Given the description of an element on the screen output the (x, y) to click on. 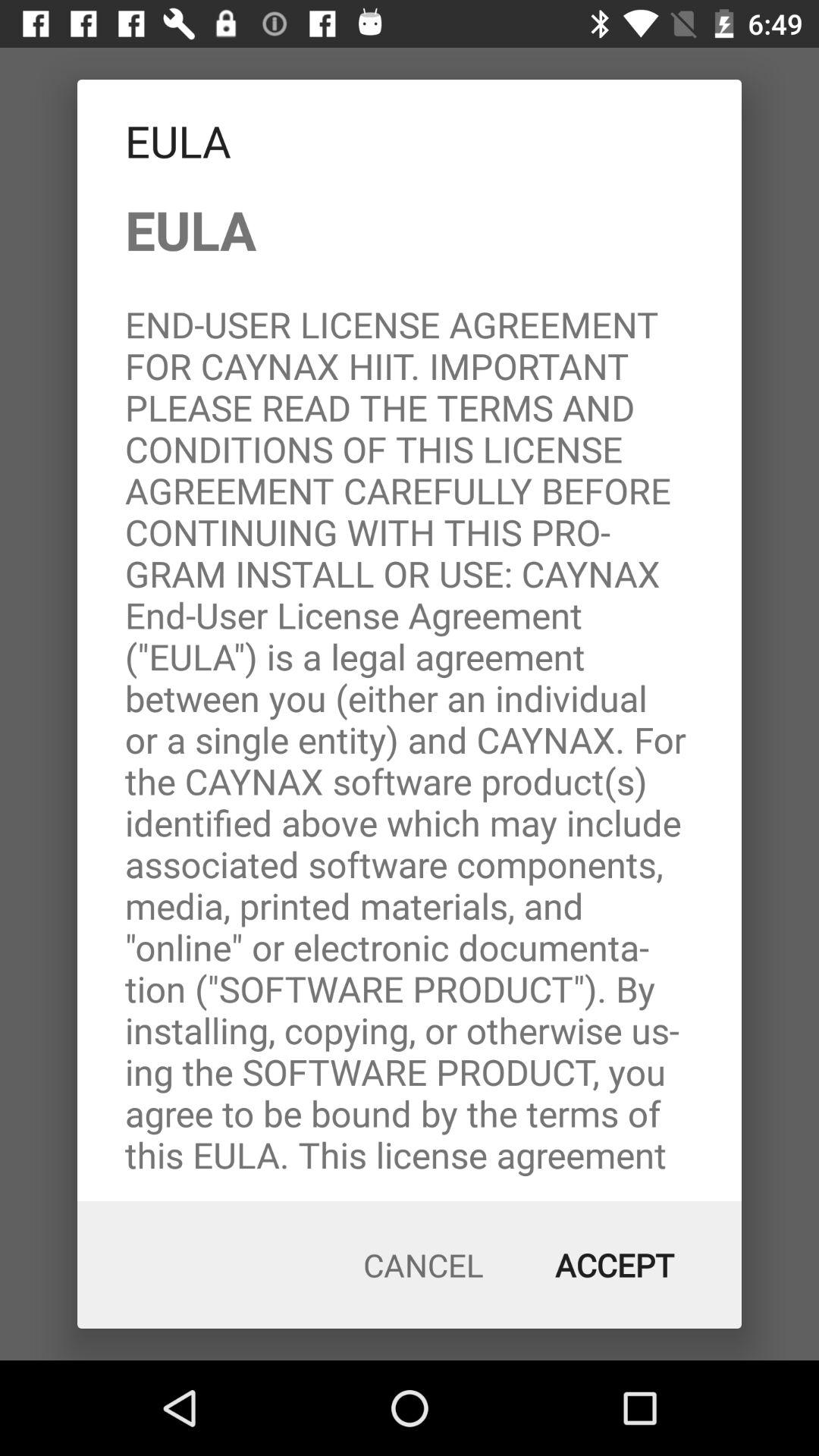
turn off the icon next to cancel item (613, 1264)
